Given the description of an element on the screen output the (x, y) to click on. 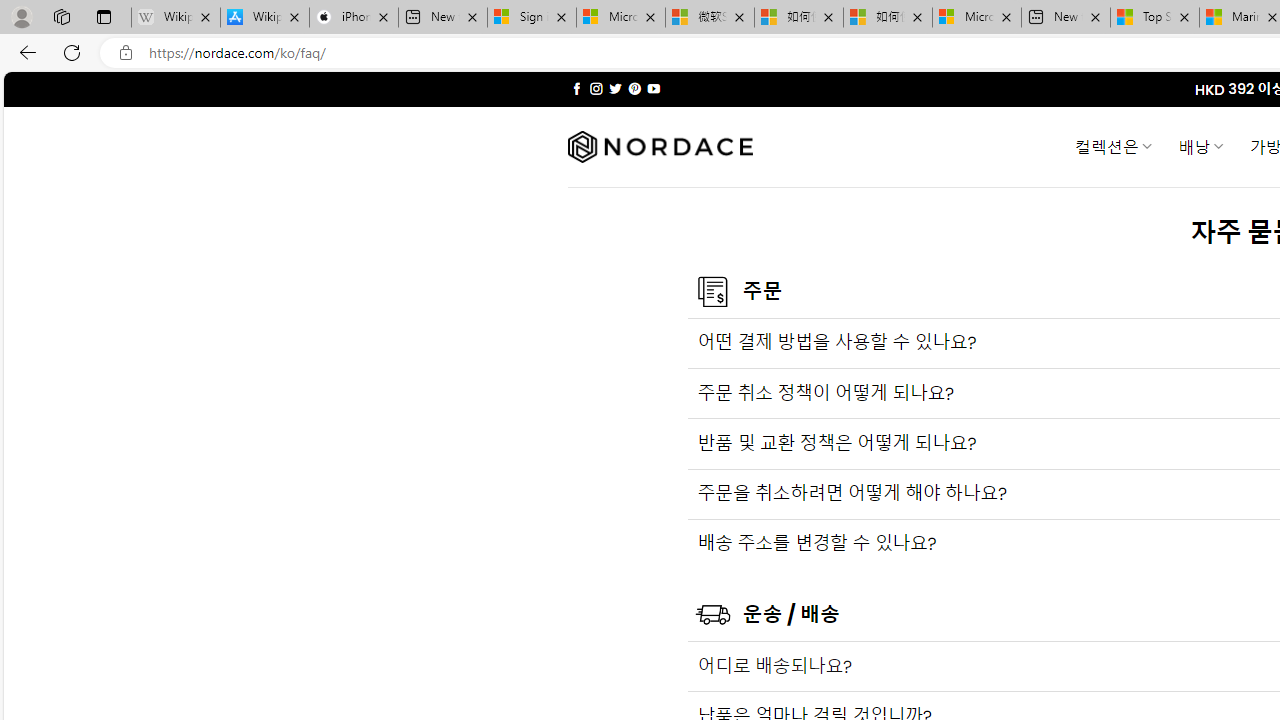
Follow on YouTube (653, 88)
Follow on Twitter (615, 88)
Sign in to your Microsoft account (531, 17)
Follow on Facebook (576, 88)
iPhone - Apple (353, 17)
Top Stories - MSN (1155, 17)
Follow on Instagram (596, 88)
Microsoft Services Agreement (621, 17)
Wikipedia - Sleeping (175, 17)
